Given the description of an element on the screen output the (x, y) to click on. 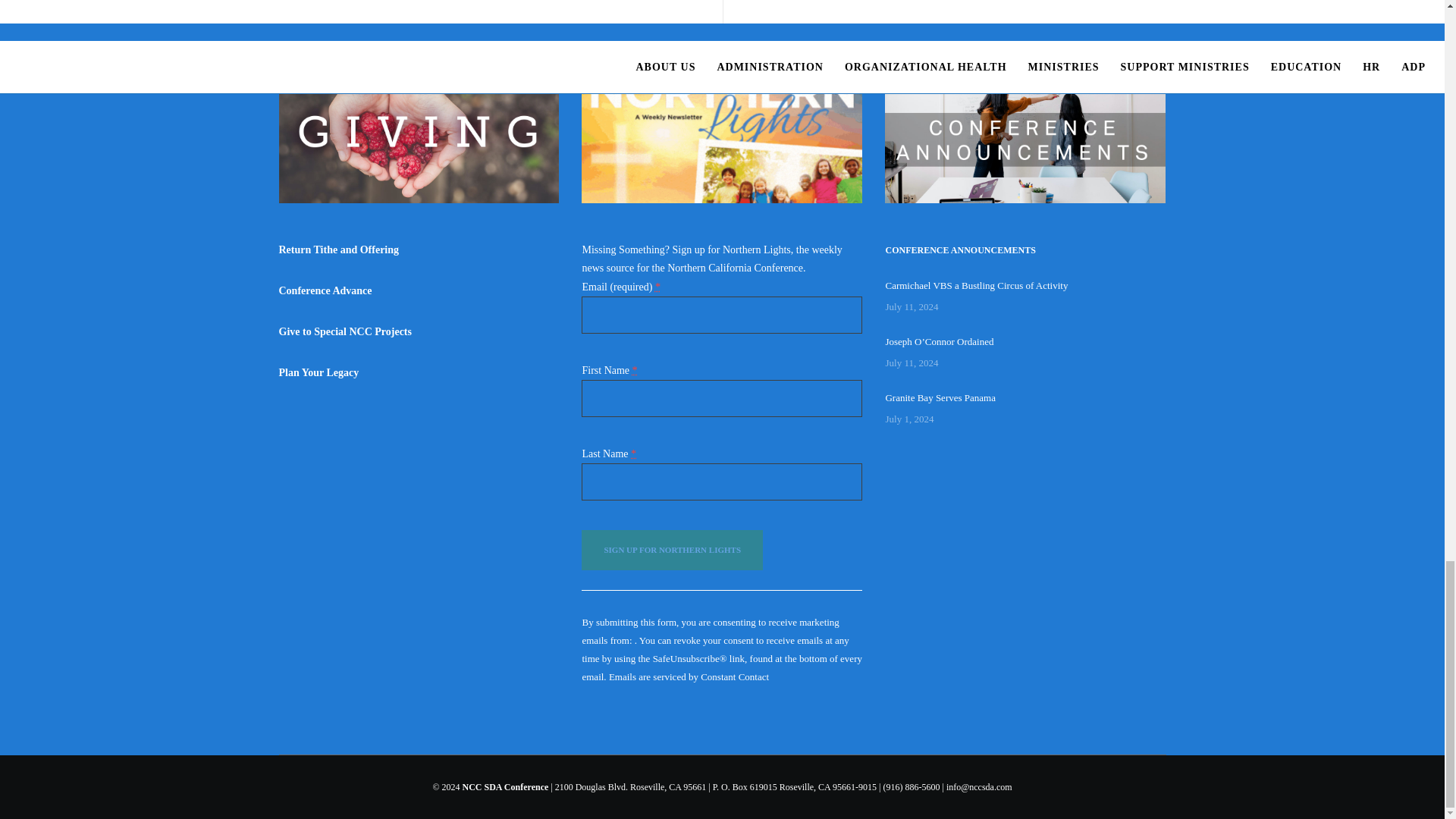
required (633, 453)
required (634, 369)
Sign up for Northern Lights (671, 549)
required (658, 286)
